Given the description of an element on the screen output the (x, y) to click on. 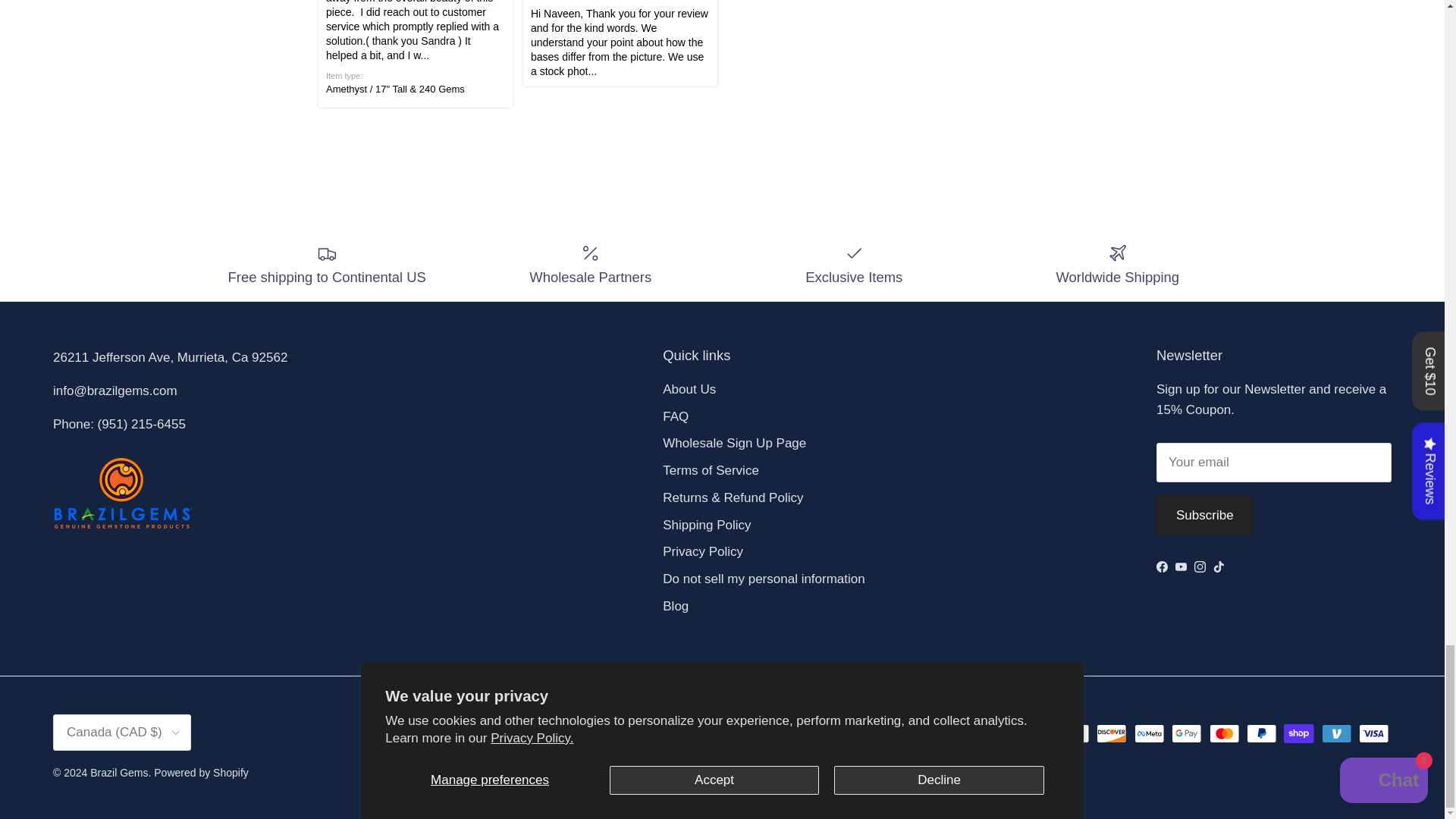
Brazil Gems on Instagram (1199, 566)
Brazil Gems on TikTok (1218, 566)
Brazil Gems on YouTube (1180, 566)
Brazil Gems on Facebook (1161, 566)
